Given the description of an element on the screen output the (x, y) to click on. 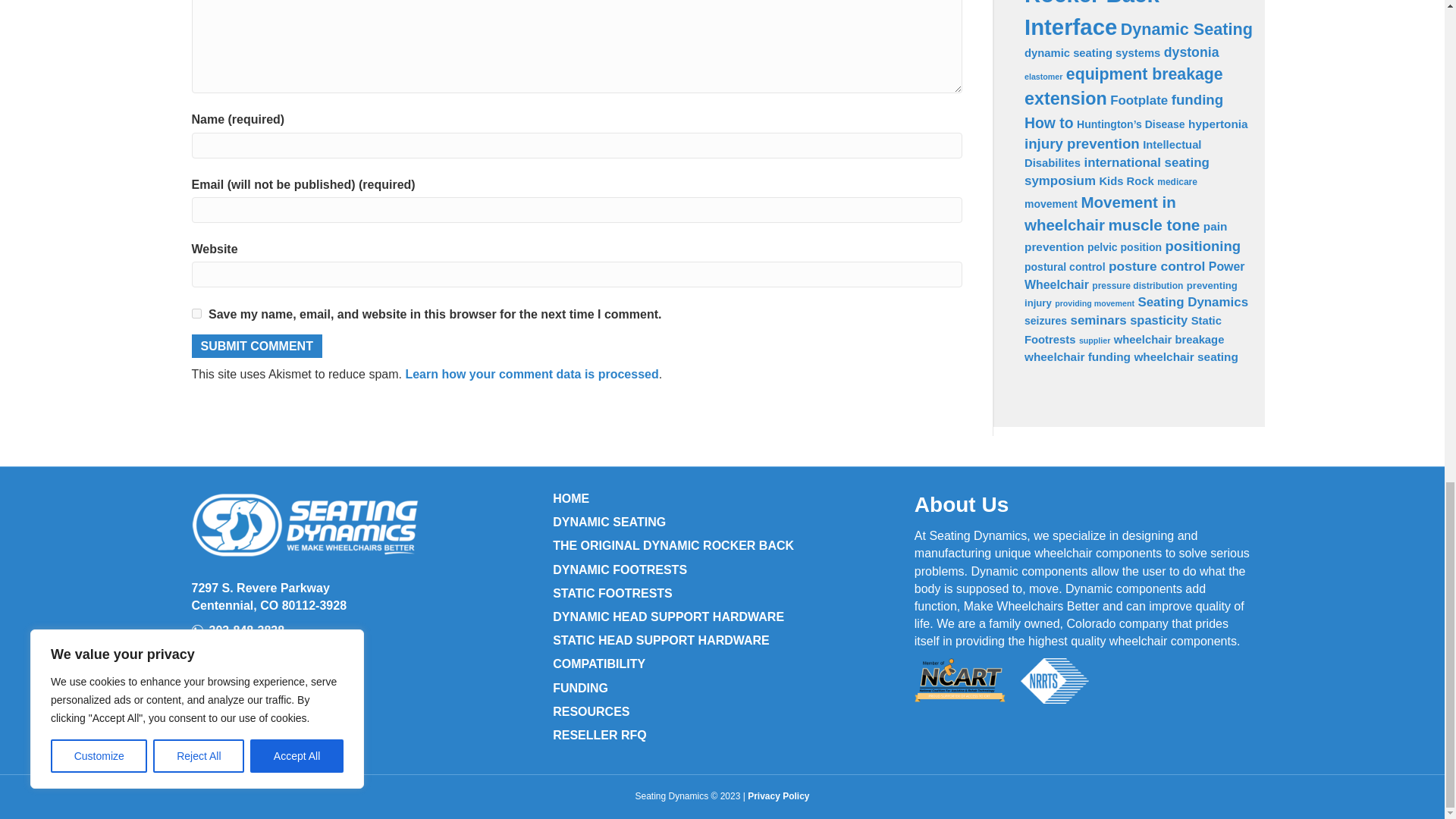
yes (195, 313)
Submit Comment (255, 345)
